Given the description of an element on the screen output the (x, y) to click on. 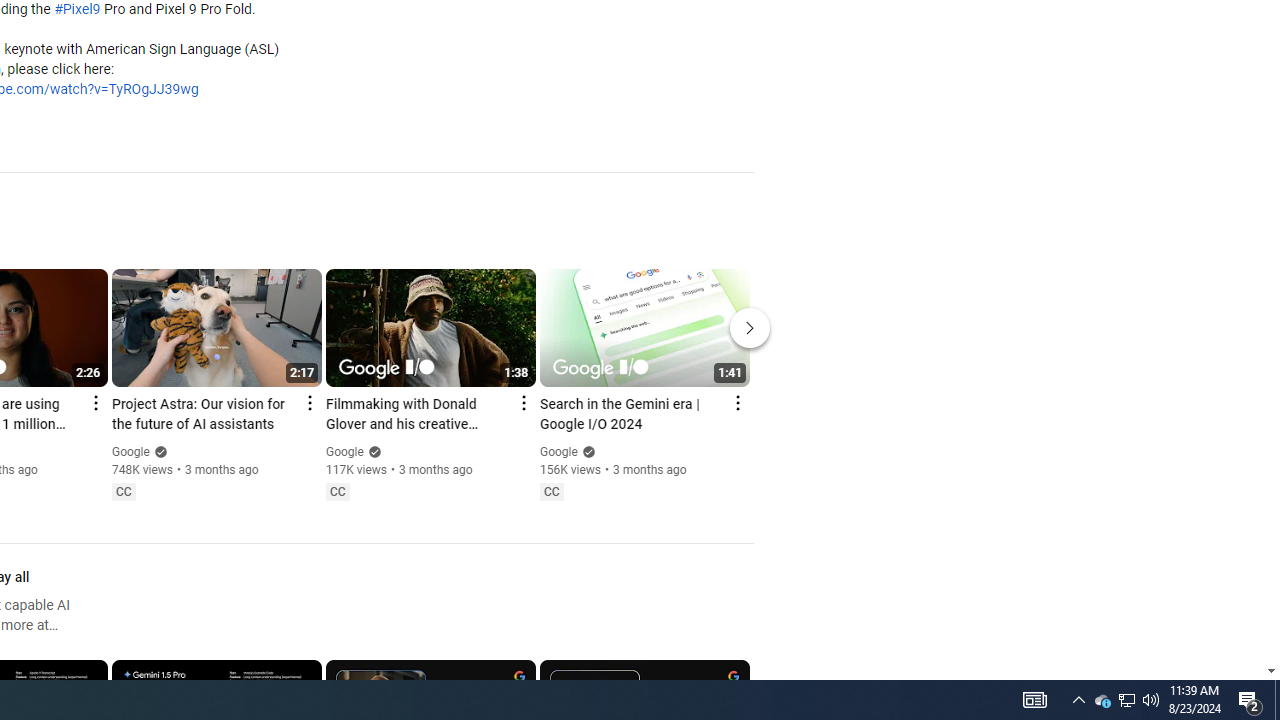
Closed captions (551, 492)
#Pixel9 (77, 10)
